Given the description of an element on the screen output the (x, y) to click on. 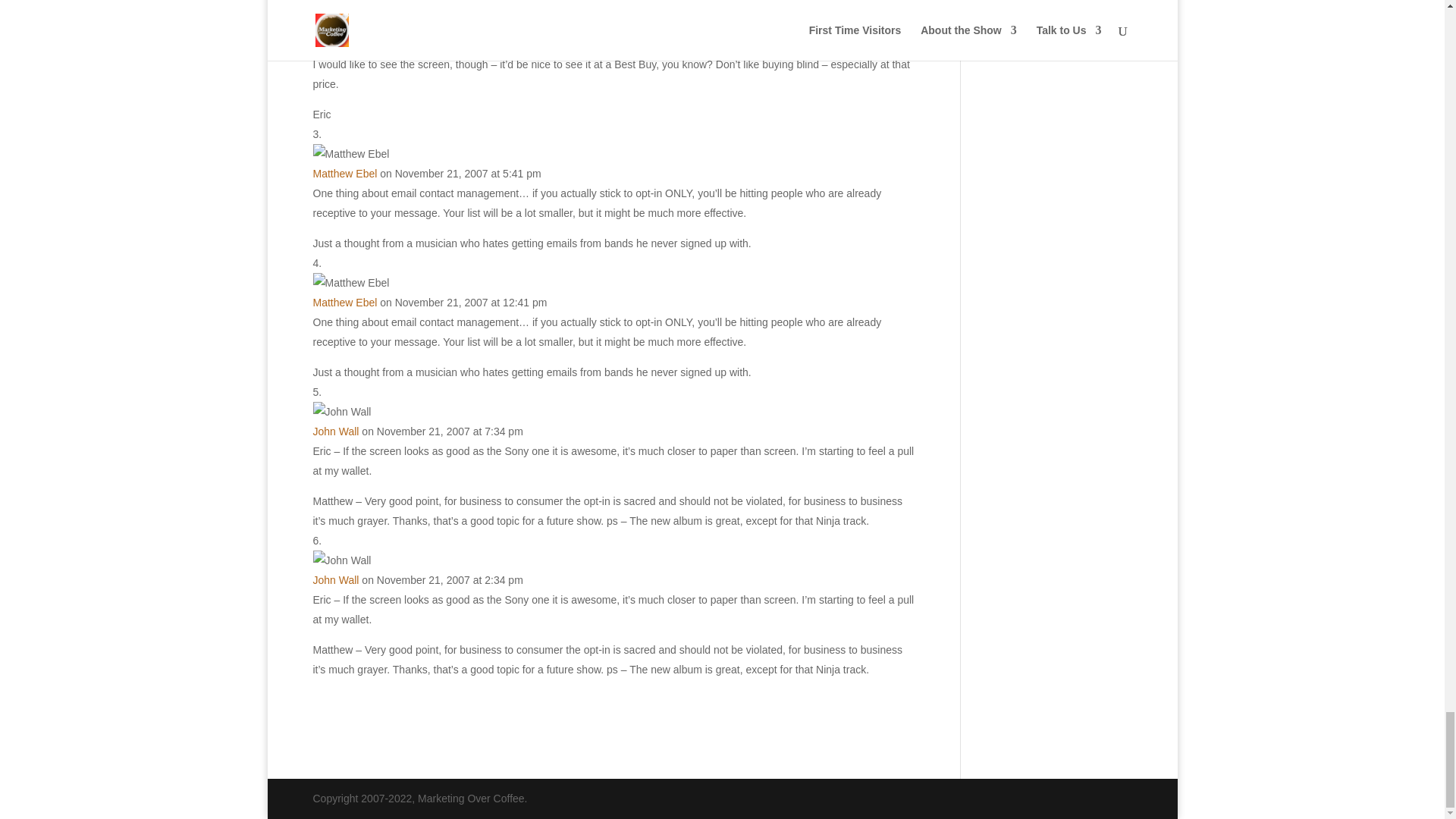
John Wall (335, 431)
John Wall (335, 580)
Matthew Ebel (345, 173)
Matthew Ebel (345, 302)
